Given the description of an element on the screen output the (x, y) to click on. 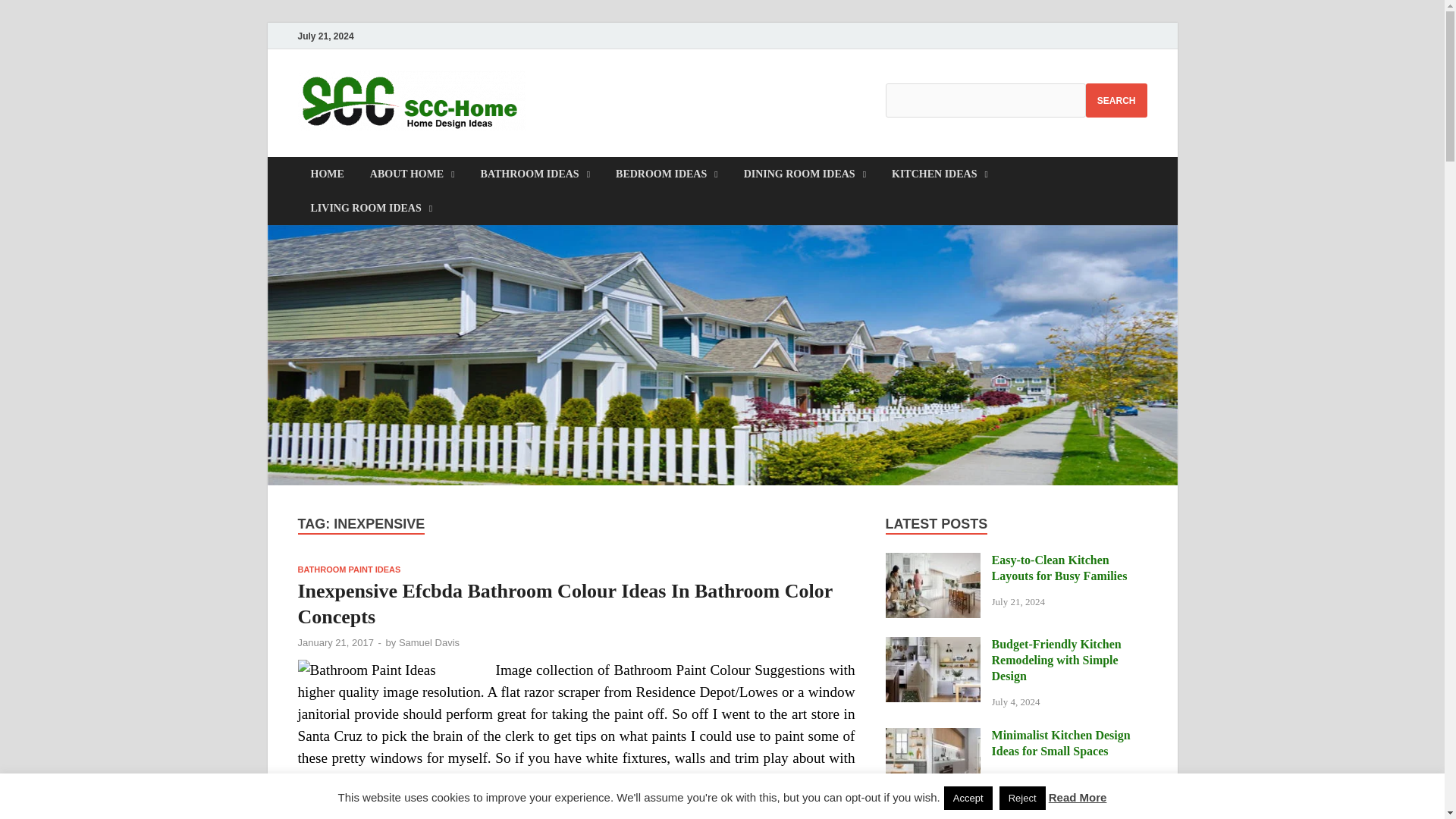
ABOUT HOME (411, 173)
BATHROOM IDEAS (534, 173)
HOME (326, 173)
Budget-Friendly Kitchen Remodeling with Simple Design (932, 645)
BEDROOM IDEAS (666, 173)
SCC-Home (608, 100)
SEARCH (1116, 100)
Minimalist Kitchen Design Ideas for Small Spaces (932, 736)
Easy-to-Clean Kitchen Layouts for Busy Families (932, 561)
DINING ROOM IDEAS (804, 173)
